Given the description of an element on the screen output the (x, y) to click on. 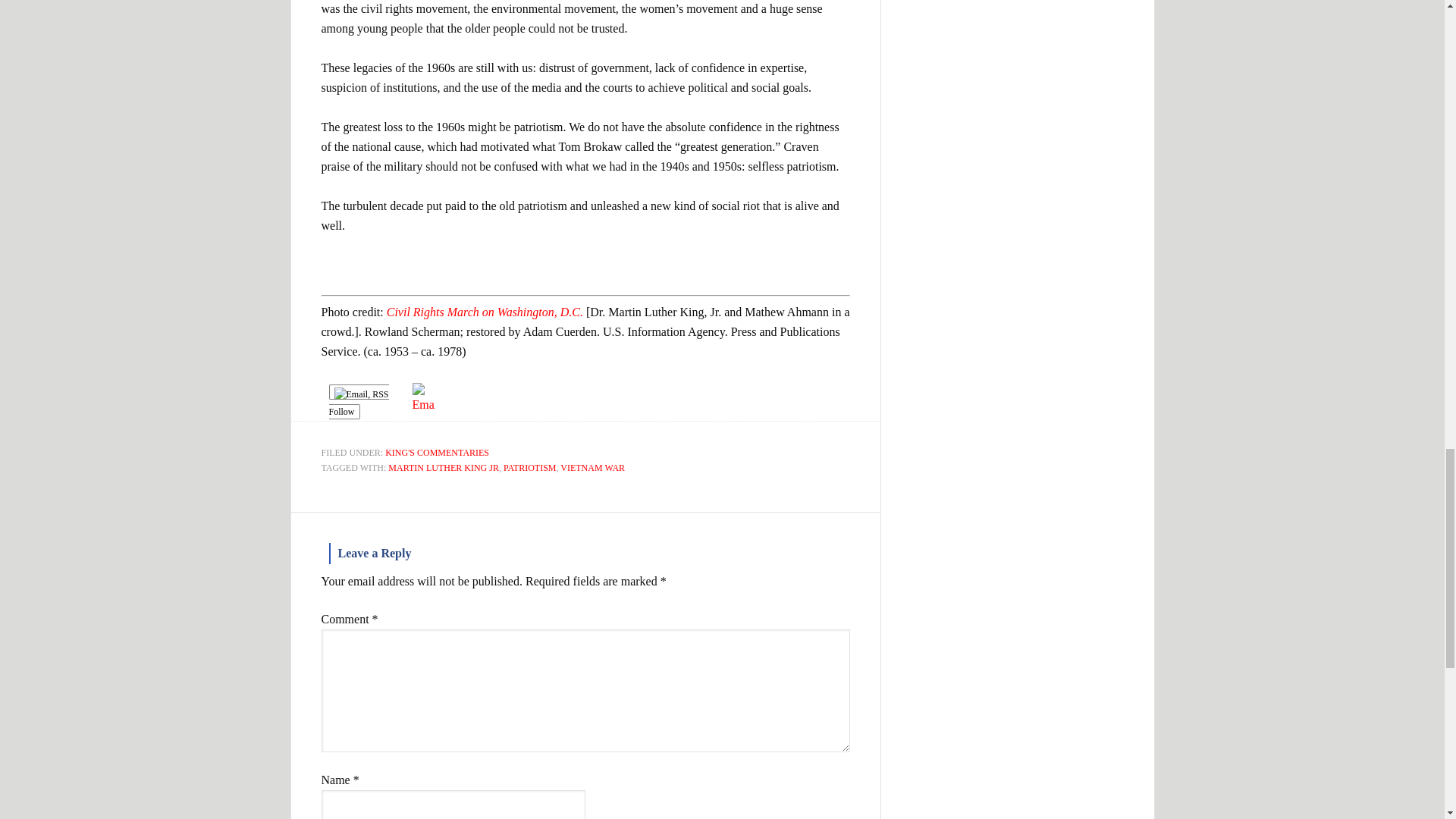
MARTIN LUTHER KING JR (443, 467)
KING'S COMMENTARIES (437, 452)
Civil Rights March on Washington, D.C. (485, 311)
Follow (358, 401)
Email, RSS (360, 394)
VIETNAM WAR (592, 467)
en:March on Washington for Jobs and Freedom (485, 311)
PATRIOTISM (529, 467)
